Given the description of an element on the screen output the (x, y) to click on. 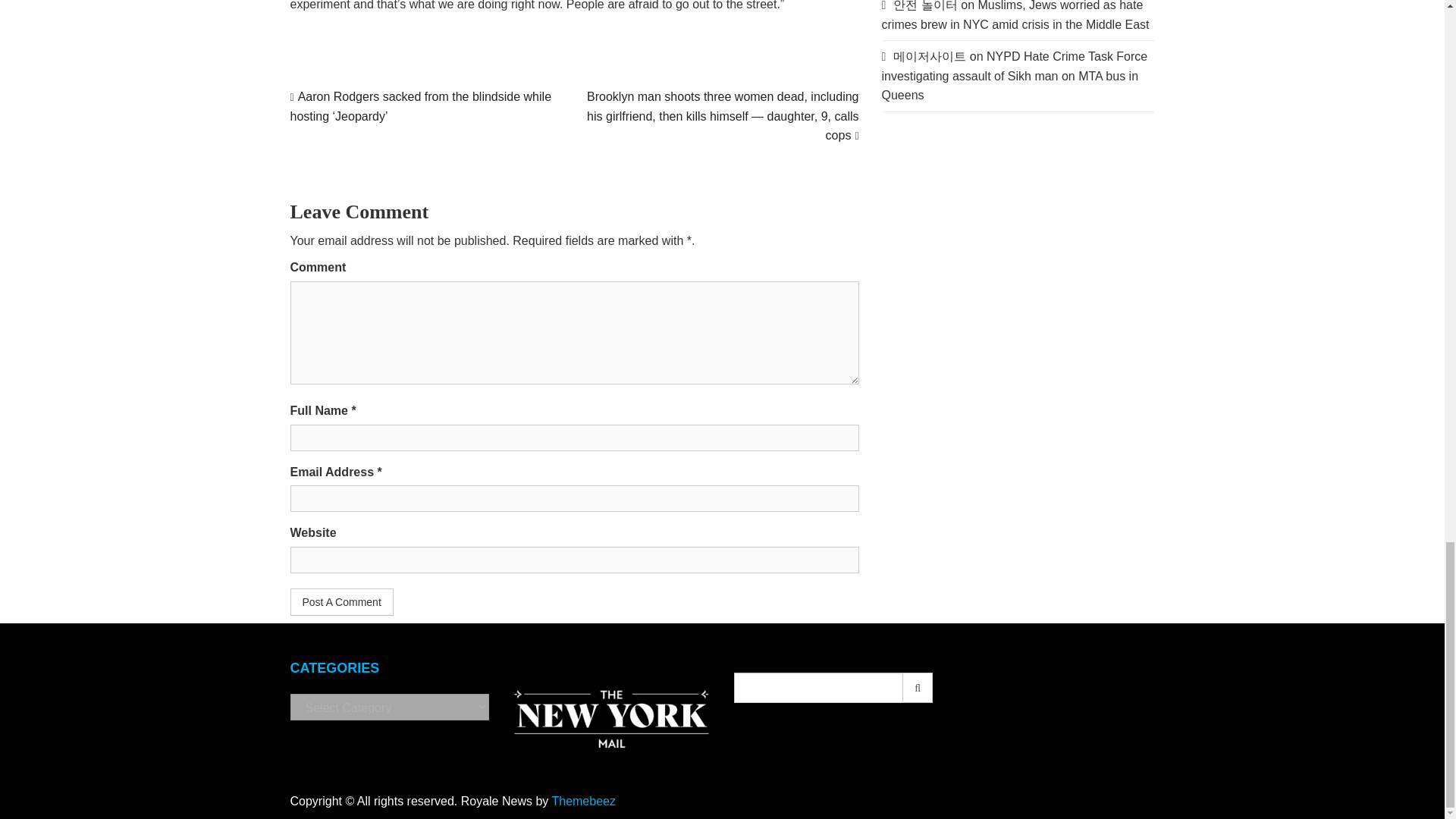
Post A Comment (341, 601)
Post A Comment (341, 601)
